Given the description of an element on the screen output the (x, y) to click on. 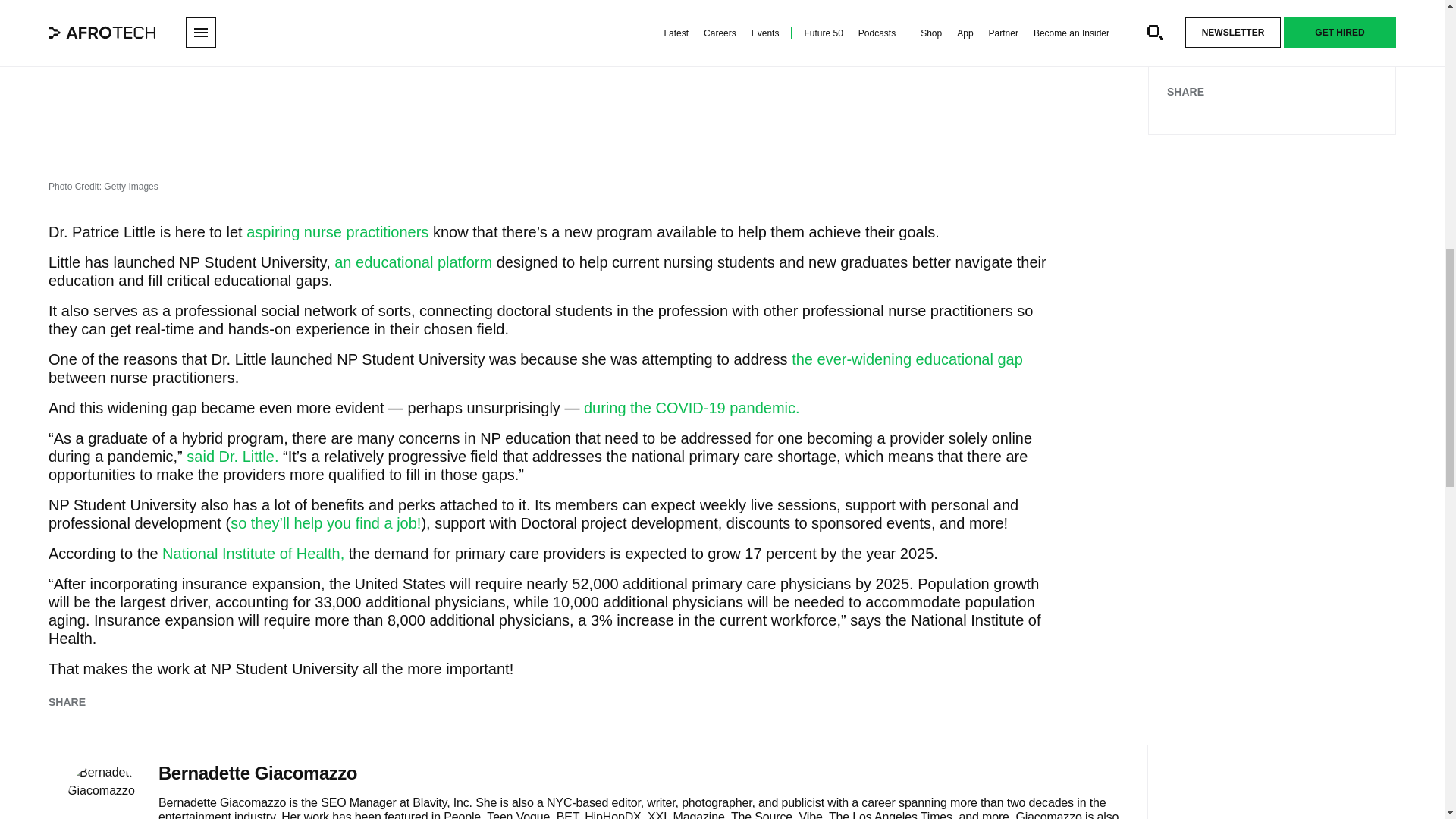
during the COVID-19 pandemic. (691, 407)
National Institute of Health, (252, 553)
the ever-widening educational gap (907, 359)
an educational platform (413, 262)
said Dr. Little. (232, 456)
aspiring nurse practitioners (337, 231)
Bernadette Giacomazzo (102, 791)
Bernadette Giacomazzo (257, 772)
